Given the description of an element on the screen output the (x, y) to click on. 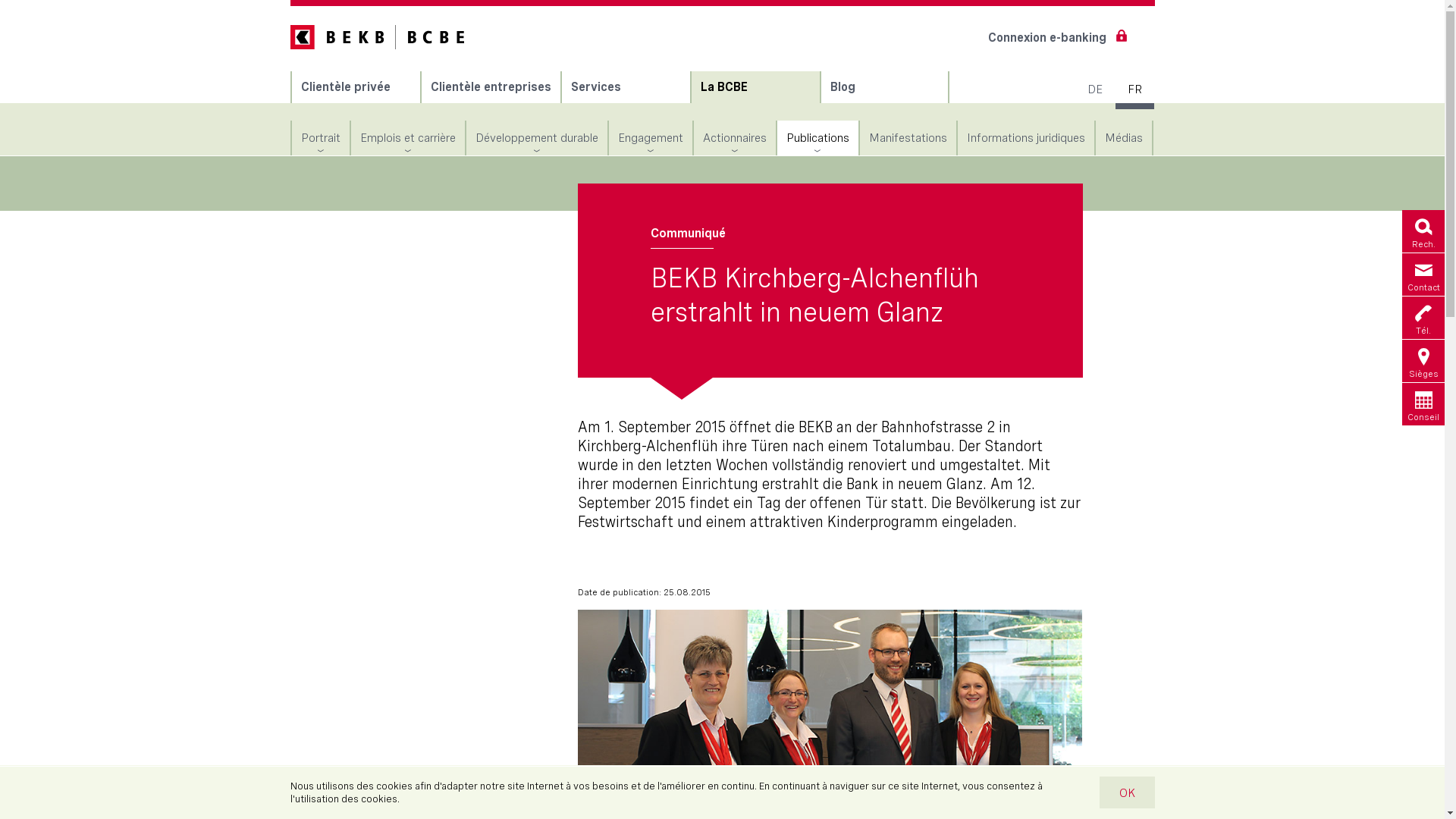
FR Element type: text (1133, 89)
Manifestations Element type: text (907, 137)
Services Element type: text (625, 87)
Rech. Element type: text (1423, 231)
La BCBE
Actif Element type: text (755, 87)
Connexion e-banking Element type: text (1054, 37)
Publications
Actif Element type: text (816, 137)
Informations juridiques Element type: text (1025, 137)
Actionnaires Element type: text (734, 137)
Contact Element type: text (1423, 274)
Engagement Element type: text (649, 137)
Portrait Element type: text (319, 137)
Conseil Element type: text (1423, 403)
DE Element type: text (1091, 89)
Blog Element type: text (883, 87)
OK Element type: text (1125, 792)
